Given the description of an element on the screen output the (x, y) to click on. 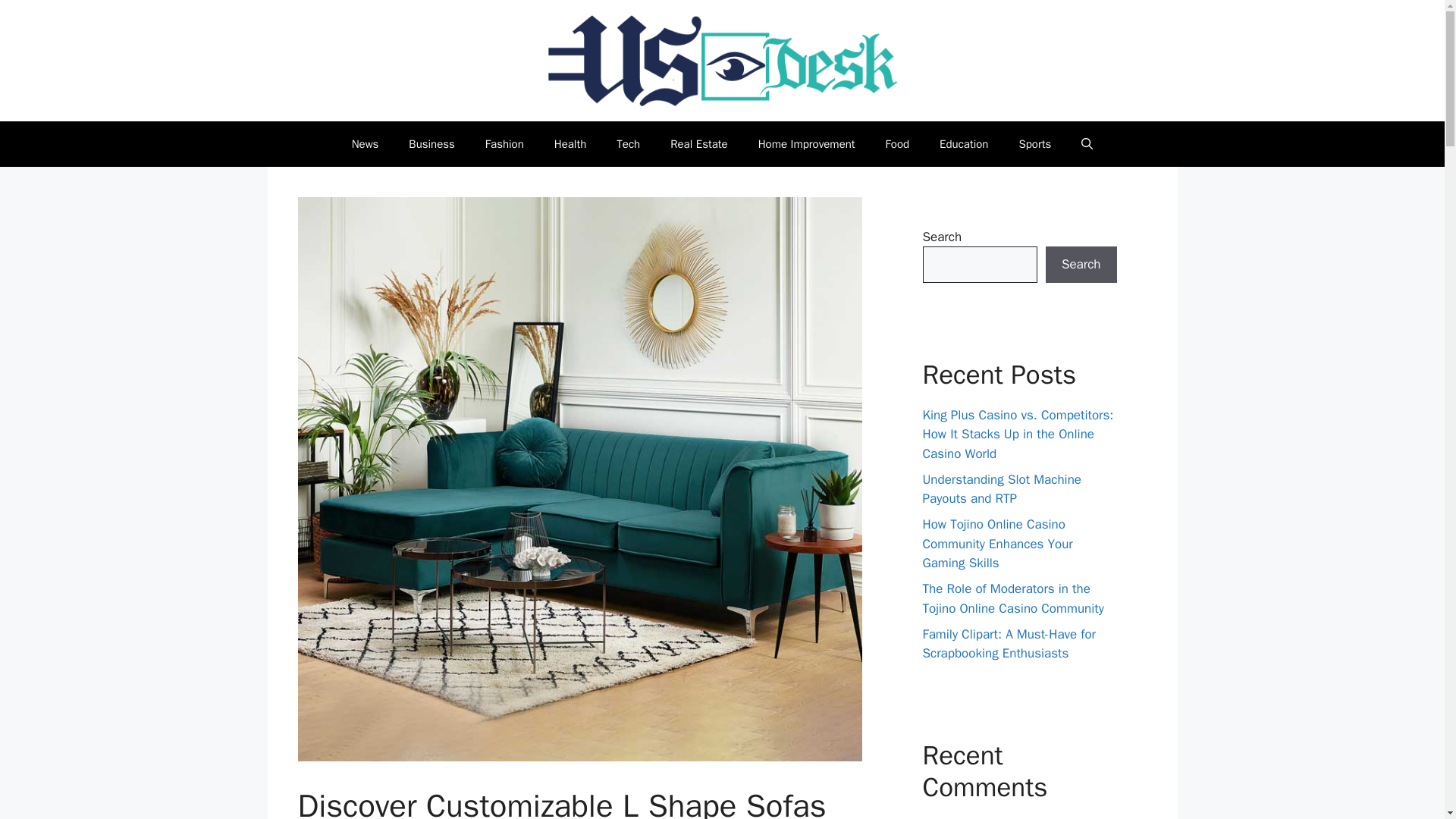
Tech (628, 144)
Education (963, 144)
Home Improvement (806, 144)
Family Clipart: A Must-Have for Scrapbooking Enthusiasts (1008, 643)
Fashion (504, 144)
The Role of Moderators in the Tojino Online Casino Community (1012, 598)
Search (1080, 264)
News (365, 144)
alexhamilton (956, 817)
Sports (1034, 144)
Real Estate (698, 144)
Food (897, 144)
Health (570, 144)
